Given the description of an element on the screen output the (x, y) to click on. 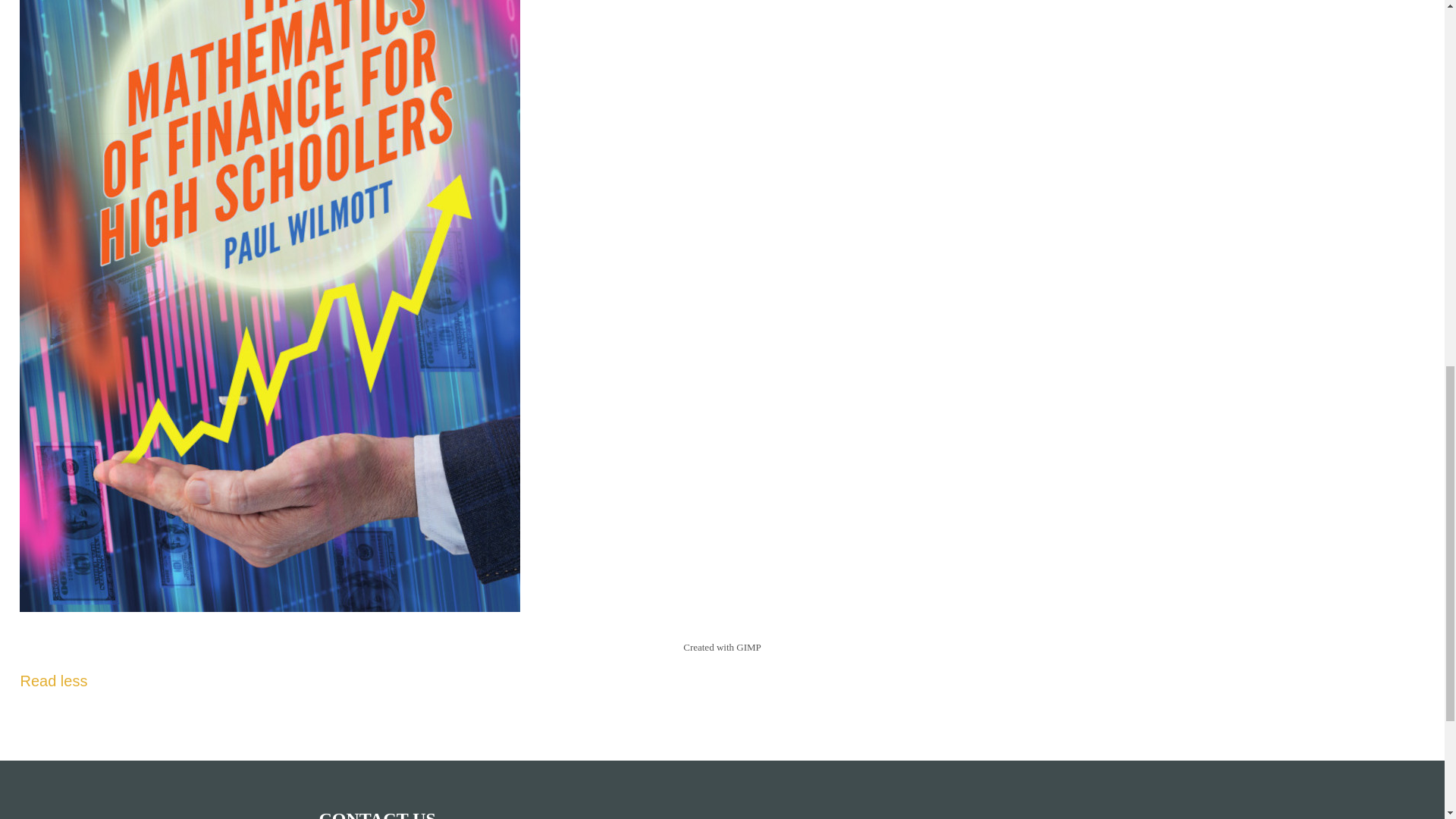
Read less (53, 680)
